Given the description of an element on the screen output the (x, y) to click on. 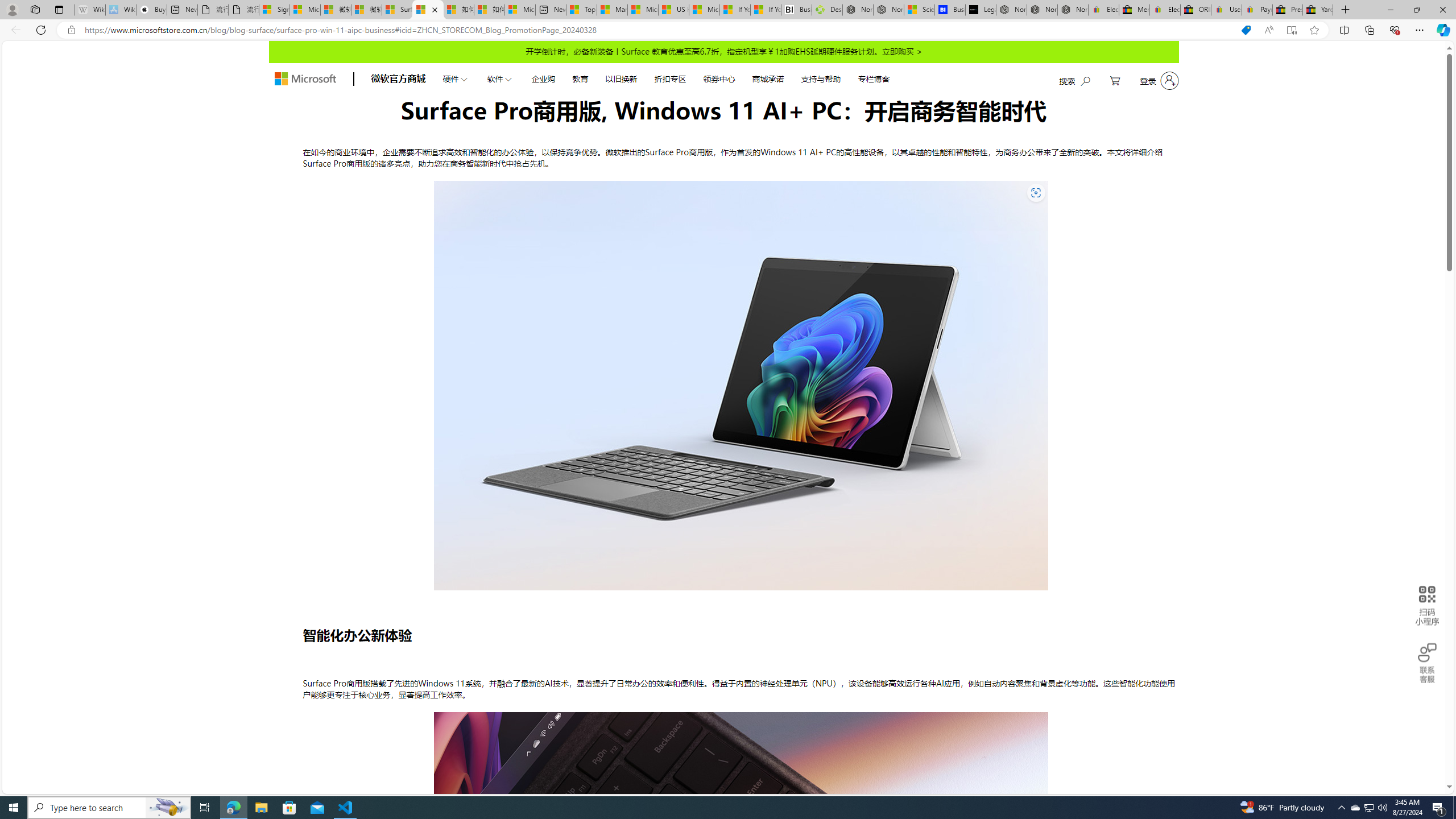
My Cart (1115, 80)
Top Stories - MSN (581, 9)
Microsoft account | Account Checkup (519, 9)
store logo (304, 78)
Buy iPad - Apple (151, 9)
Descarga Driver Updater (826, 9)
